Given the description of an element on the screen output the (x, y) to click on. 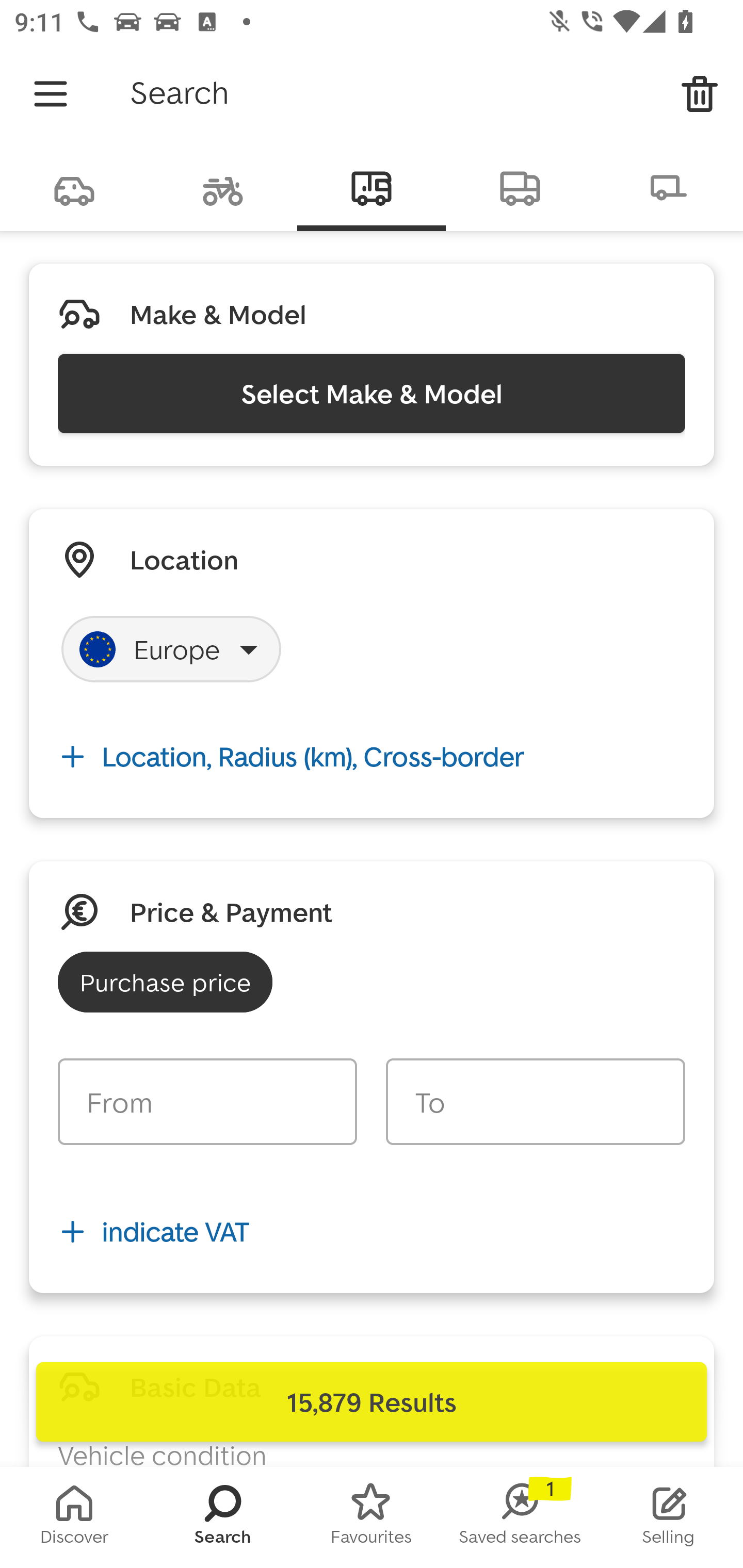
Navigate up (50, 93)
New search (699, 93)
CAR_SEARCH (74, 187)
BIKE_SEARCH (222, 187)
TRUCKS_SEARCH (519, 187)
TRAILERS_SEARCH (668, 187)
Make & Model (218, 314)
Select Make & Model (371, 393)
Location (184, 559)
Europe (170, 648)
Location, Radius (km), Cross-border (371, 756)
Price & Payment (231, 911)
Purchase price (164, 981)
From (207, 1101)
To (535, 1101)
indicate VAT (371, 1231)
15,879 Results (371, 1401)
HOMESCREEN Discover (74, 1517)
SEARCH Search (222, 1517)
FAVORITES Favourites (371, 1517)
SAVED_SEARCHES Saved searches 1 (519, 1517)
STOCK_LIST Selling (668, 1517)
